Given the description of an element on the screen output the (x, y) to click on. 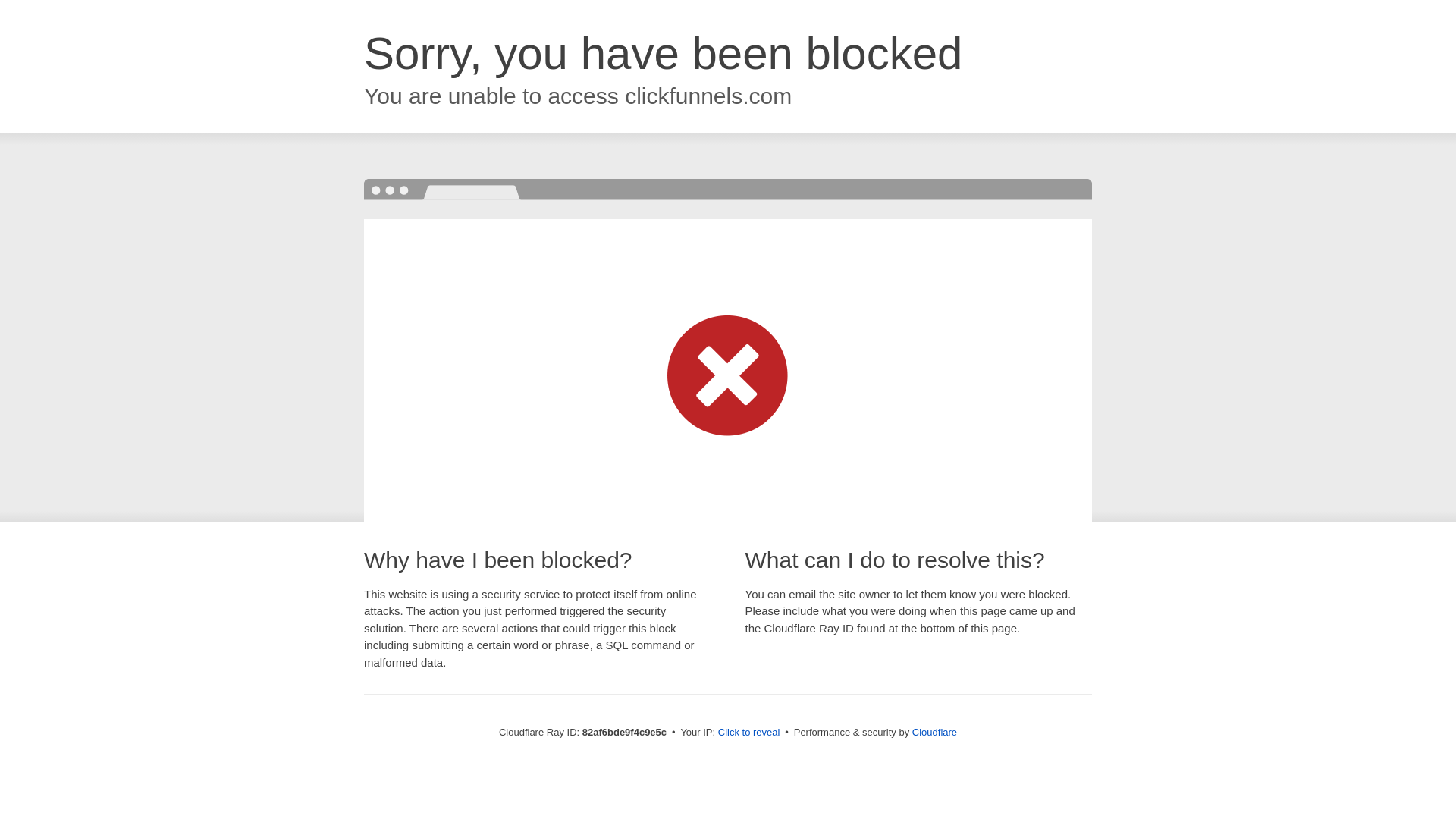
Cloudflare Element type: text (934, 731)
Click to reveal Element type: text (749, 732)
